Given the description of an element on the screen output the (x, y) to click on. 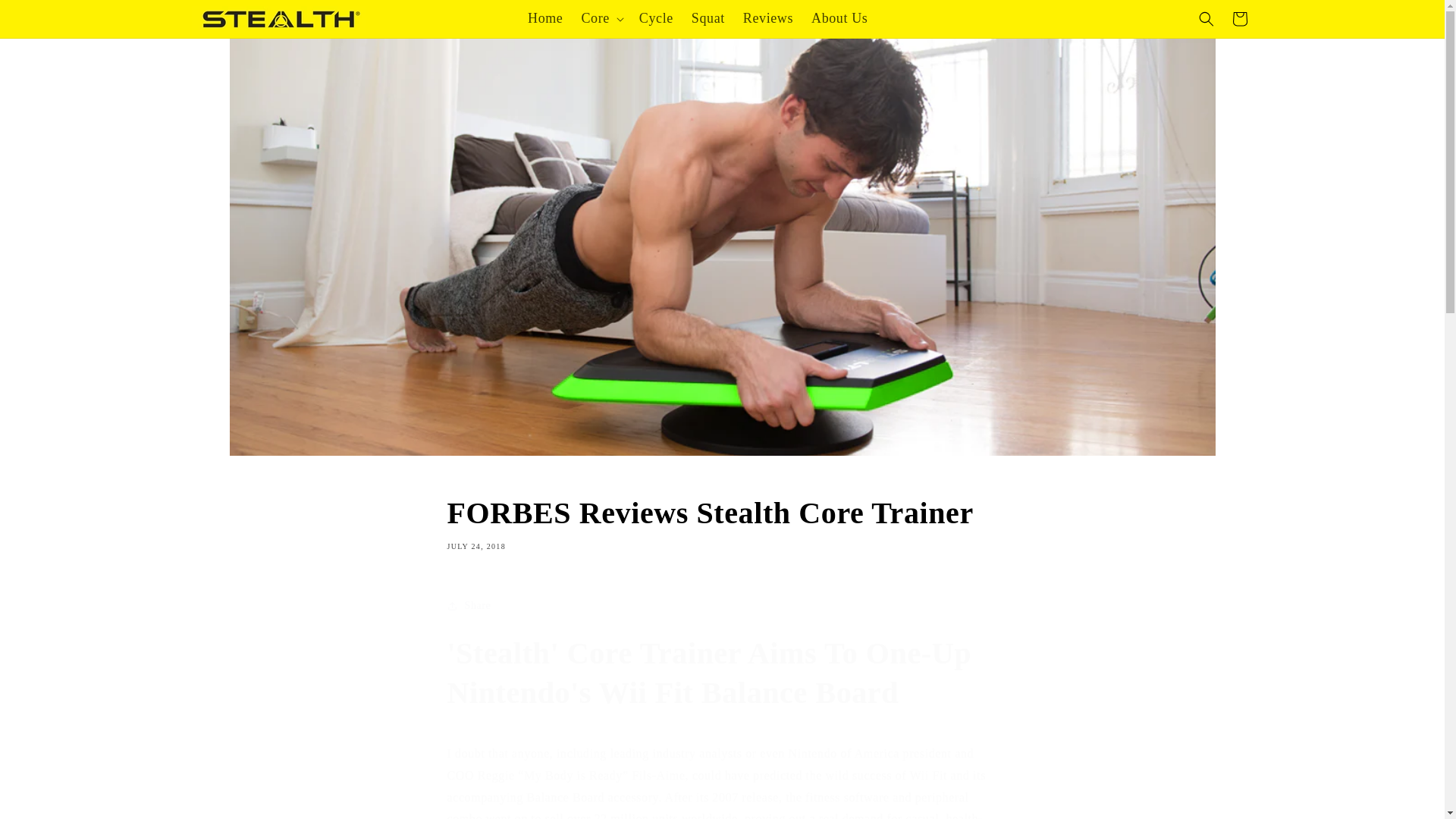
Cycle (721, 522)
Share (656, 18)
Cart (721, 605)
Reviews (1239, 19)
About Us (767, 18)
Home (839, 18)
Squat (545, 18)
Skip to content (707, 18)
